Given the description of an element on the screen output the (x, y) to click on. 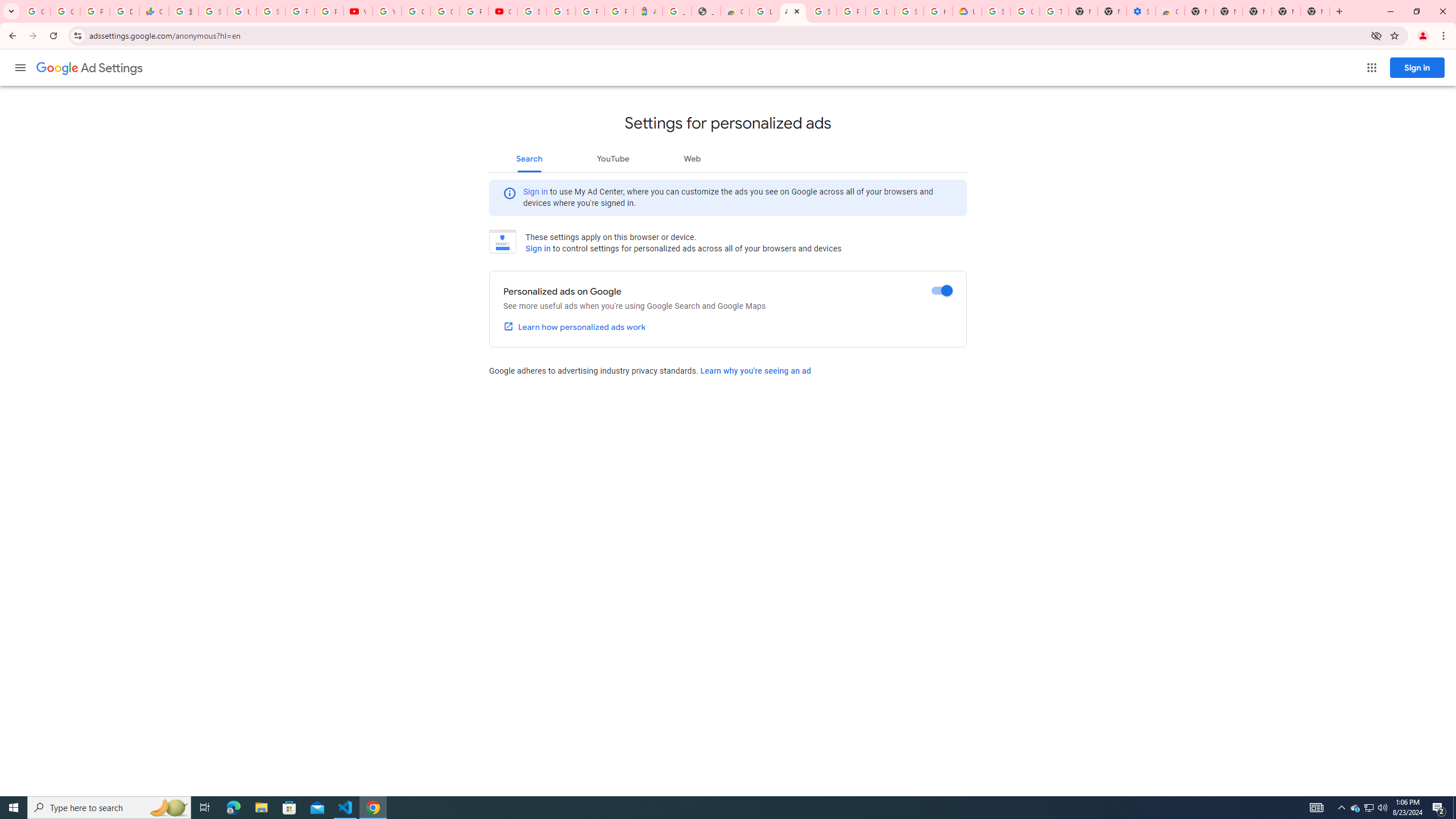
Ad Settings (792, 11)
Sign in - Google Accounts (996, 11)
Google Account Help (415, 11)
YouTube (612, 157)
YouTube (357, 11)
